Given the description of an element on the screen output the (x, y) to click on. 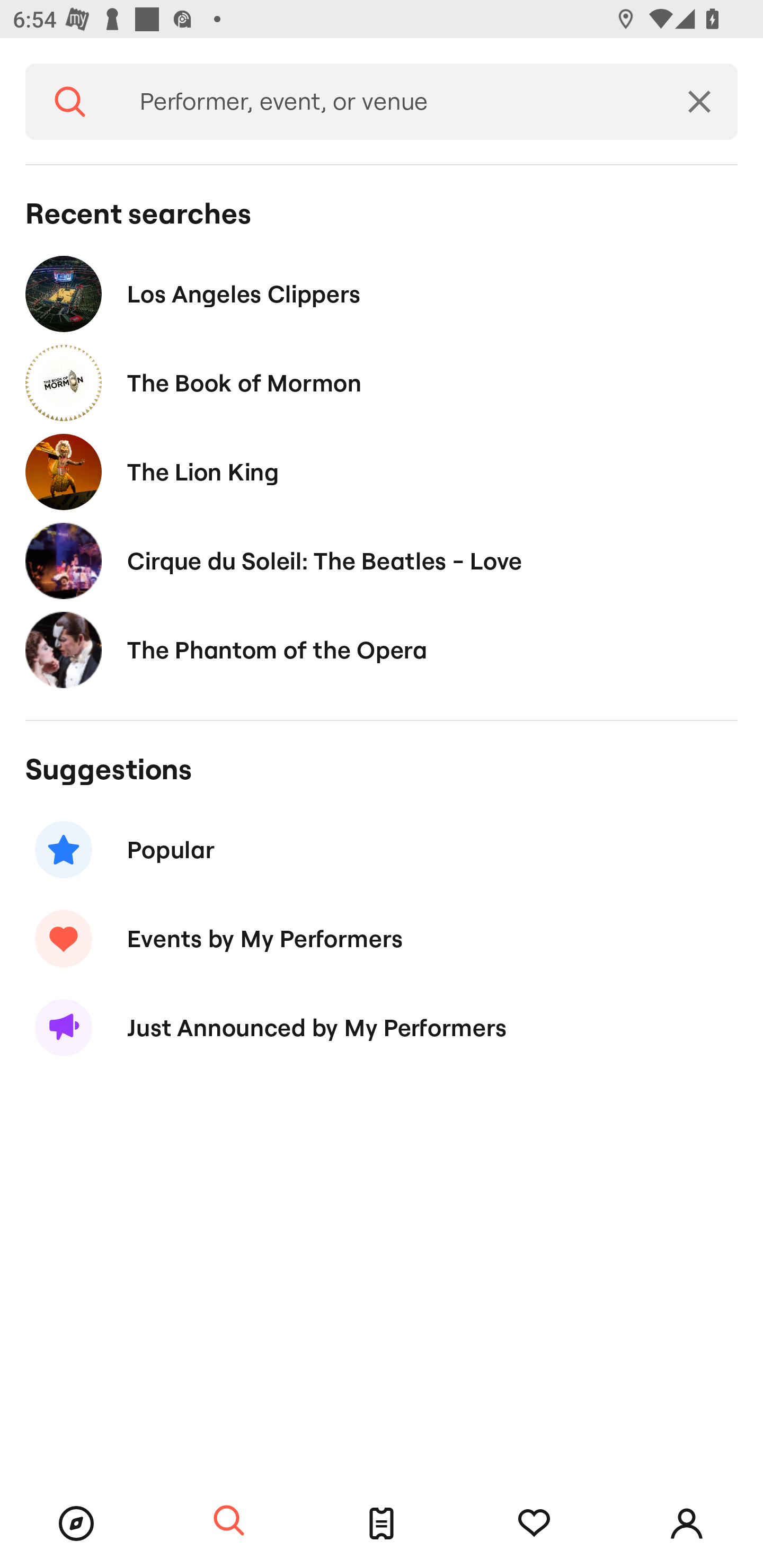
Search (69, 101)
Performer, event, or venue (387, 101)
Clear (699, 101)
Los Angeles Clippers (381, 293)
The Book of Mormon (381, 383)
The Lion King (381, 471)
Cirque du Soleil: The Beatles - Love (381, 560)
The Phantom of the Opera (381, 649)
Popular (381, 849)
Events by My Performers (381, 938)
Just Announced by My Performers (381, 1027)
Browse (76, 1523)
Search (228, 1521)
Tickets (381, 1523)
Tracking (533, 1523)
Account (686, 1523)
